Given the description of an element on the screen output the (x, y) to click on. 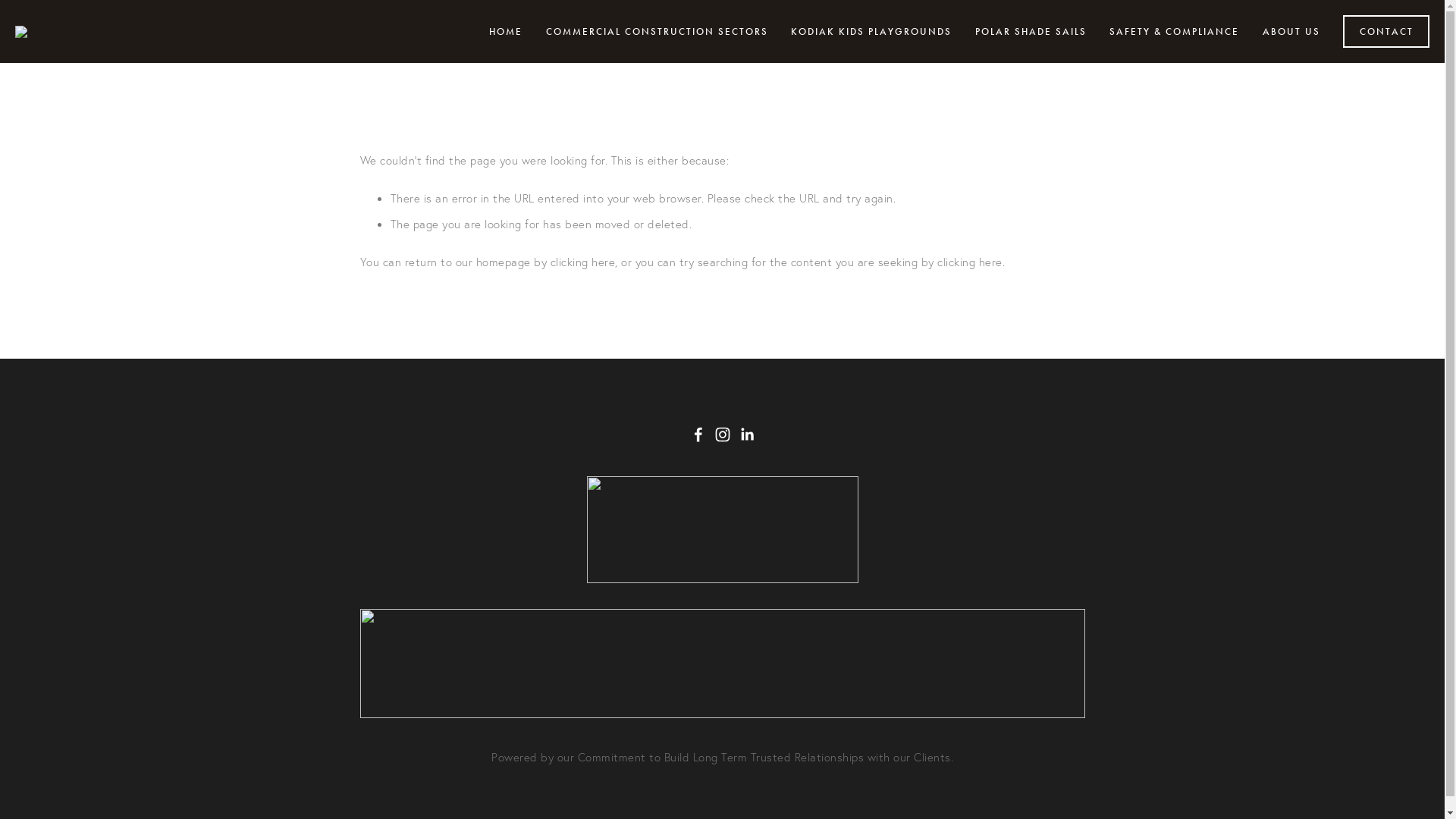
POLAR SHADE SAILS Element type: text (1029, 30)
clicking here Element type: text (582, 260)
clicking here Element type: text (969, 260)
KODIAK KIDS PLAYGROUNDS Element type: text (871, 30)
CONTACT Element type: text (1386, 31)
SAFETY & COMPLIANCE Element type: text (1173, 30)
ABOUT US Element type: text (1291, 30)
HOME Element type: text (505, 30)
